Given the description of an element on the screen output the (x, y) to click on. 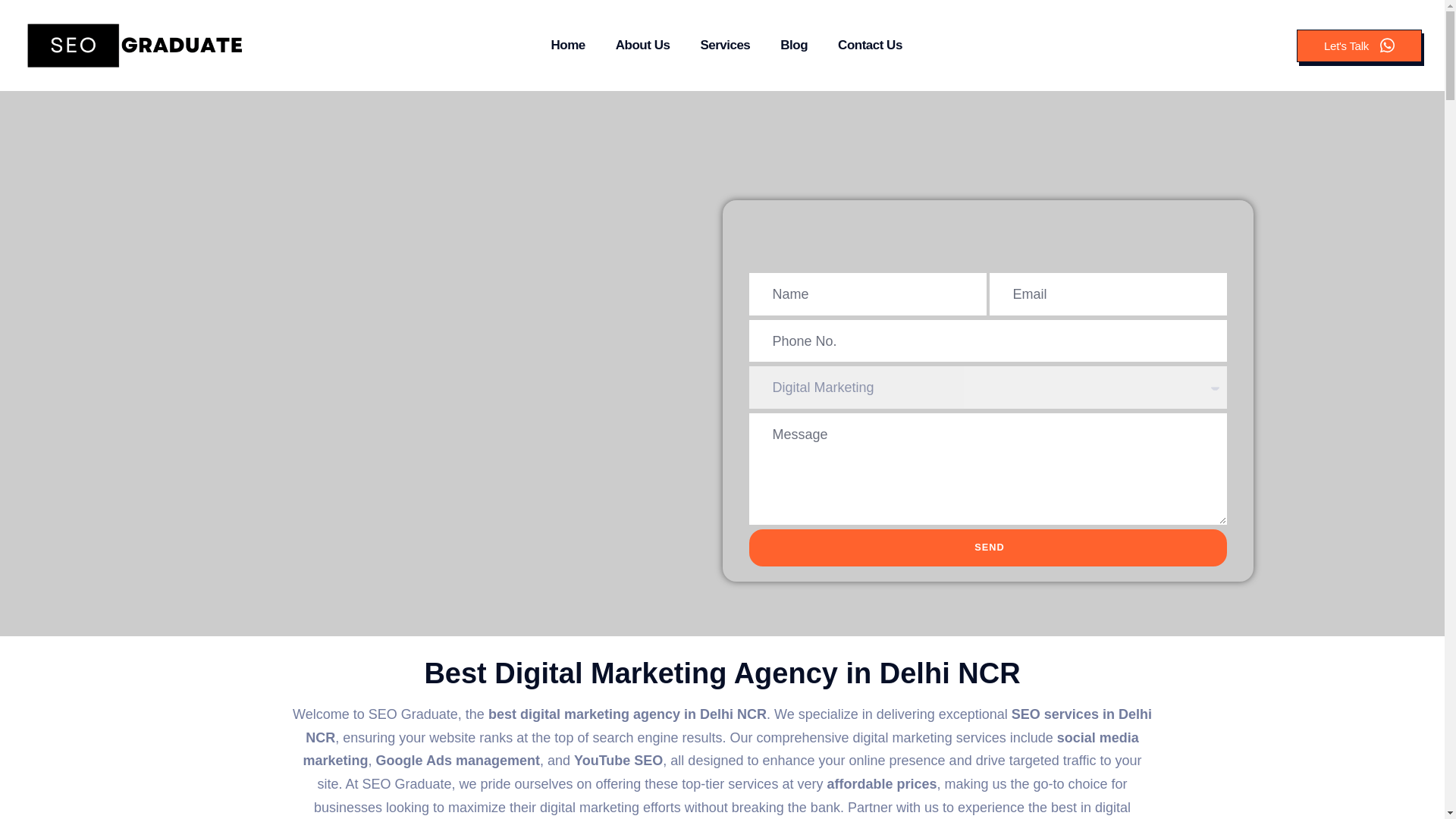
SEND (988, 547)
Contact Us (869, 45)
Blog (793, 45)
About Us (642, 45)
Home (567, 45)
new seo logo (135, 45)
Let's Talk (1359, 44)
Services (724, 45)
